Given the description of an element on the screen output the (x, y) to click on. 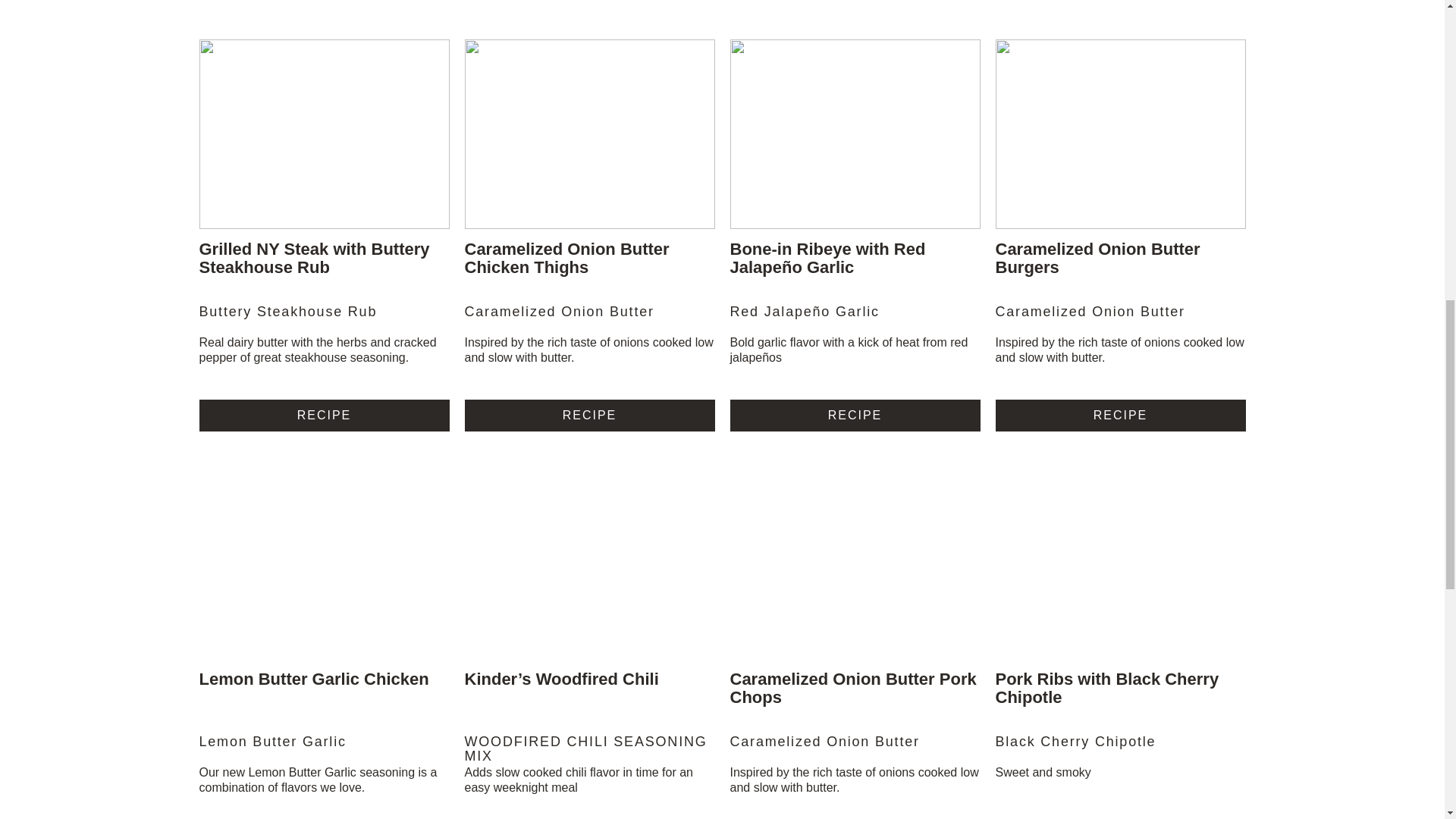
Buttery Steakhouse Rub (323, 319)
Caramelized Onion Butter (589, 319)
Caramelized Onion Butter Burgers (1096, 257)
RECIPE (323, 414)
RECIPE (854, 414)
Caramelized Onion Butter (1119, 319)
Caramelized Onion Butter Chicken Thighs (566, 257)
Grilled NY Steak with Buttery Steakhouse Rub (313, 257)
RECIPE (589, 414)
